Given the description of an element on the screen output the (x, y) to click on. 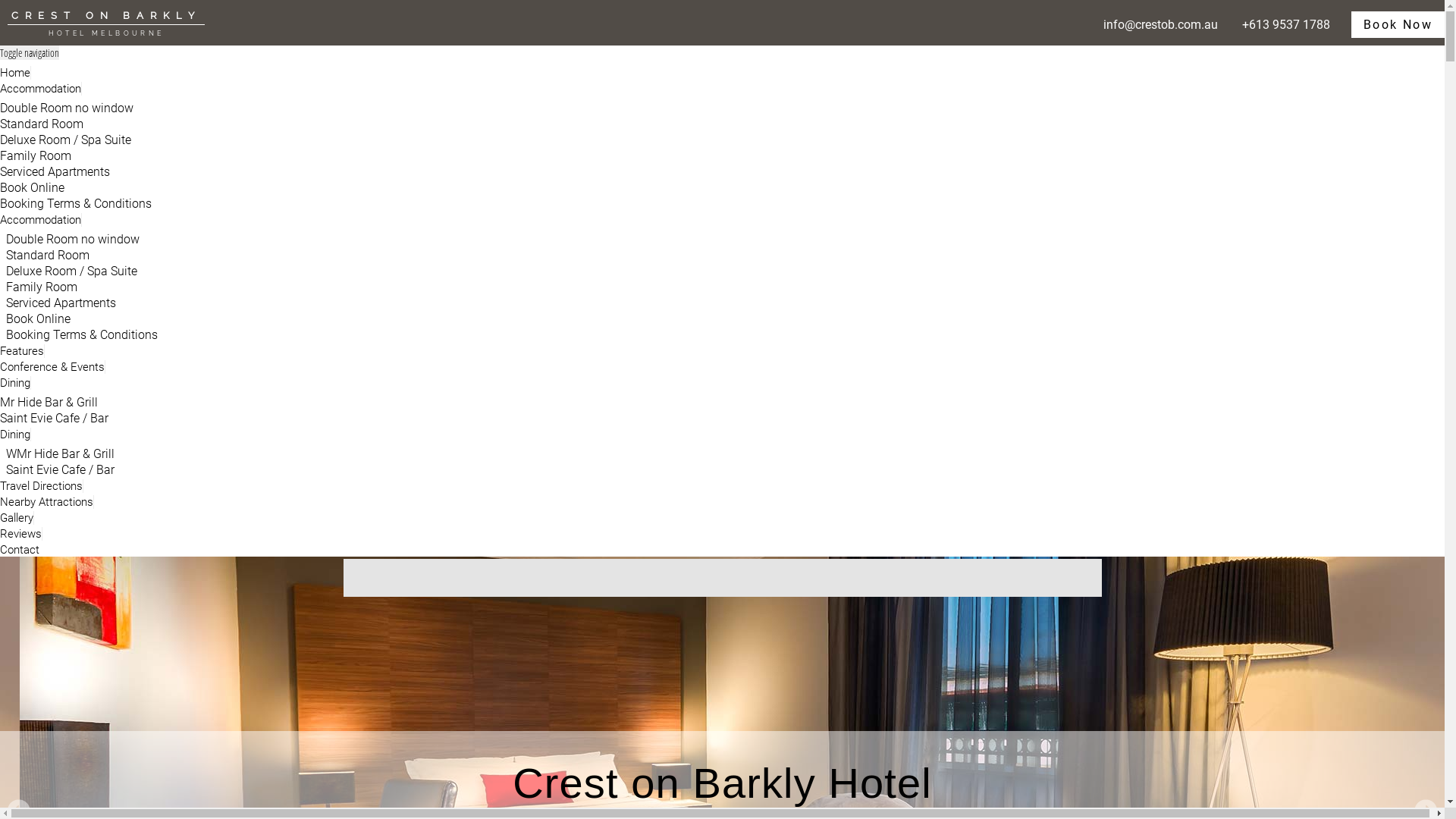
Accommodation Element type: text (40, 219)
Accommodation Element type: text (40, 88)
Nearby Attractions Element type: text (47, 501)
Home Element type: text (15, 72)
Dining Element type: text (15, 382)
Gallery Element type: text (17, 517)
Features Element type: text (22, 350)
Toggle navigation Element type: text (29, 52)
Deluxe Room / Spa Suite Element type: text (65, 139)
Mr Hide Bar & Grill Element type: text (48, 402)
Contact Element type: text (19, 549)
Book Online Element type: text (38, 318)
Book Now Element type: text (1397, 24)
Double Room no window Element type: text (66, 107)
Saint Evie Cafe / Bar Element type: text (54, 418)
Standard Room Element type: text (47, 254)
Double Room no window Element type: text (72, 239)
+613 9537 1788 Element type: text (1286, 24)
Conference & Events Element type: text (52, 366)
Family Room Element type: text (35, 155)
Saint Evie Cafe / Bar Element type: text (60, 469)
Booking Terms & Conditions Element type: text (75, 203)
Dining Element type: text (15, 434)
Standard Room Element type: text (41, 123)
Family Room Element type: text (41, 286)
Booking Terms & Conditions Element type: text (81, 334)
Deluxe Room / Spa Suite Element type: text (71, 270)
Serviced Apartments Element type: text (54, 171)
Serviced Apartments Element type: text (61, 302)
Travel Directions Element type: text (41, 485)
WMr Hide Bar & Grill Element type: text (60, 453)
info@crestob.com.au Element type: text (1160, 24)
Book Online Element type: text (32, 187)
Reviews Element type: text (21, 533)
